Given the description of an element on the screen output the (x, y) to click on. 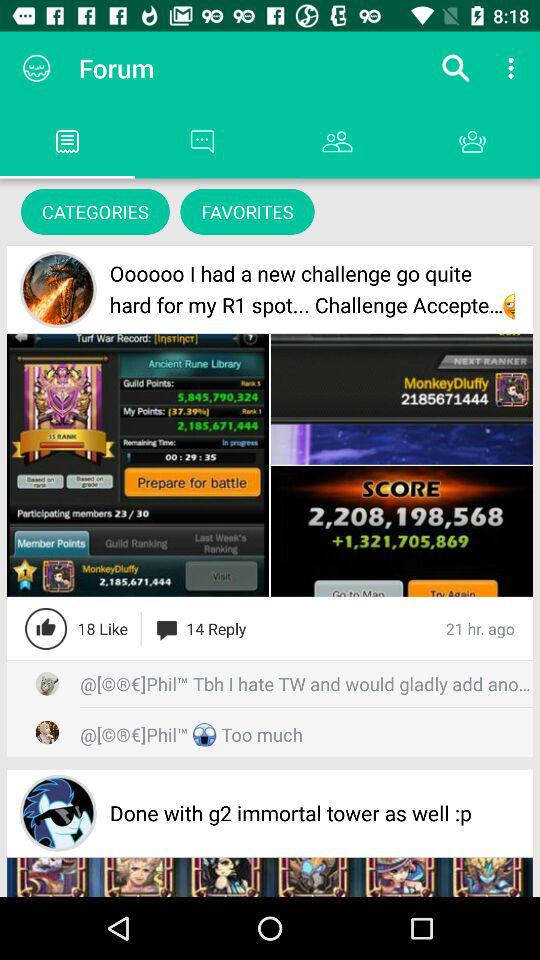
turn off categories (95, 211)
